Given the description of an element on the screen output the (x, y) to click on. 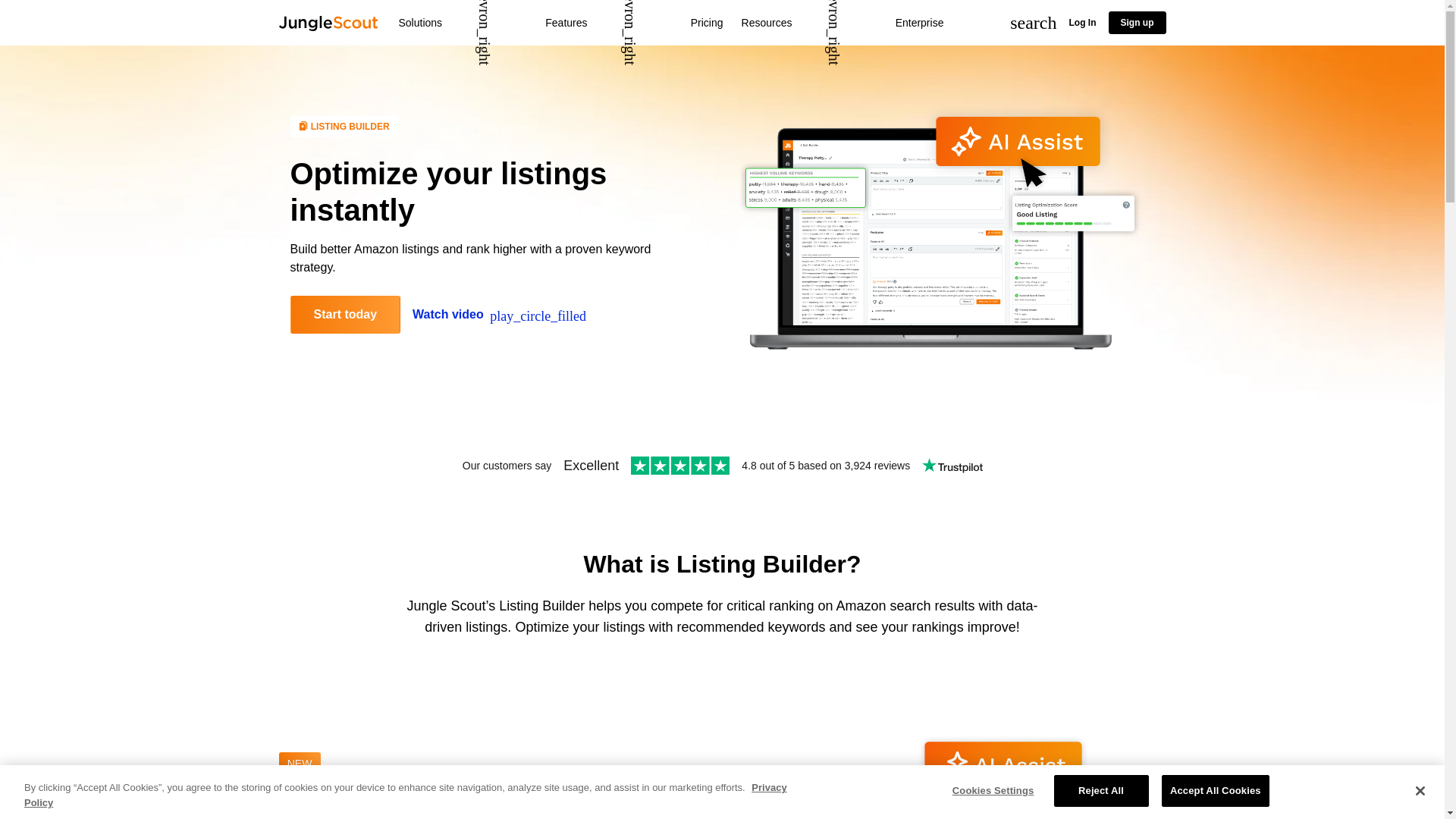
Log In (1082, 22)
Sign up (1137, 22)
Customer reviews powered by Trustpilot (722, 466)
